Given the description of an element on the screen output the (x, y) to click on. 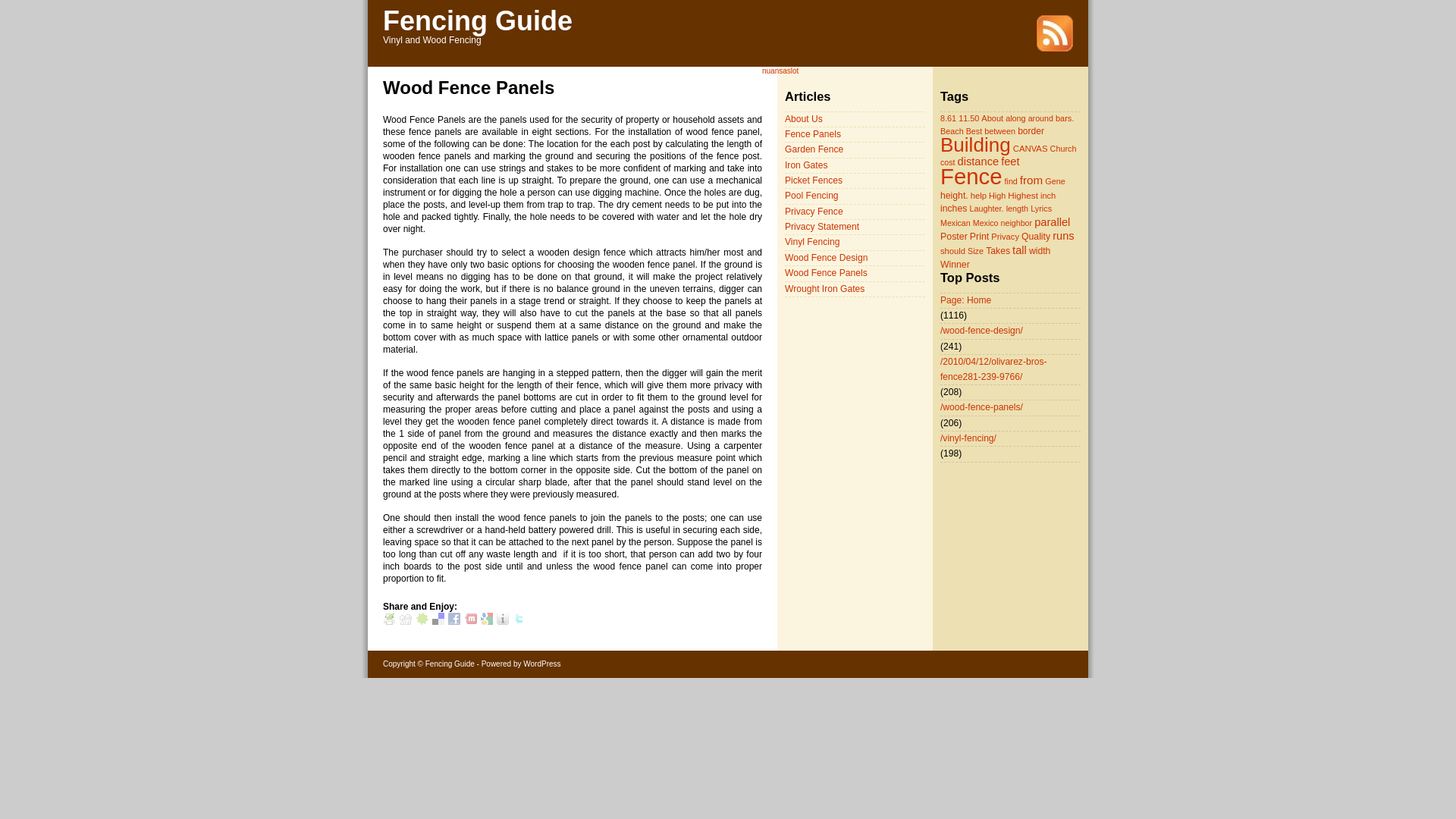
Vinyl Fencing (812, 241)
About Us (803, 118)
Fencing Guide (477, 20)
High (997, 194)
Wood Fence Panels (825, 272)
find (1010, 180)
Privacy Fence (813, 211)
Privacy Statement (821, 226)
Church (1063, 148)
along (1016, 117)
inch (1048, 194)
Fence Panels (812, 133)
Pool Fencing (811, 195)
feet (1010, 161)
Garden Fence (813, 149)
